Given the description of an element on the screen output the (x, y) to click on. 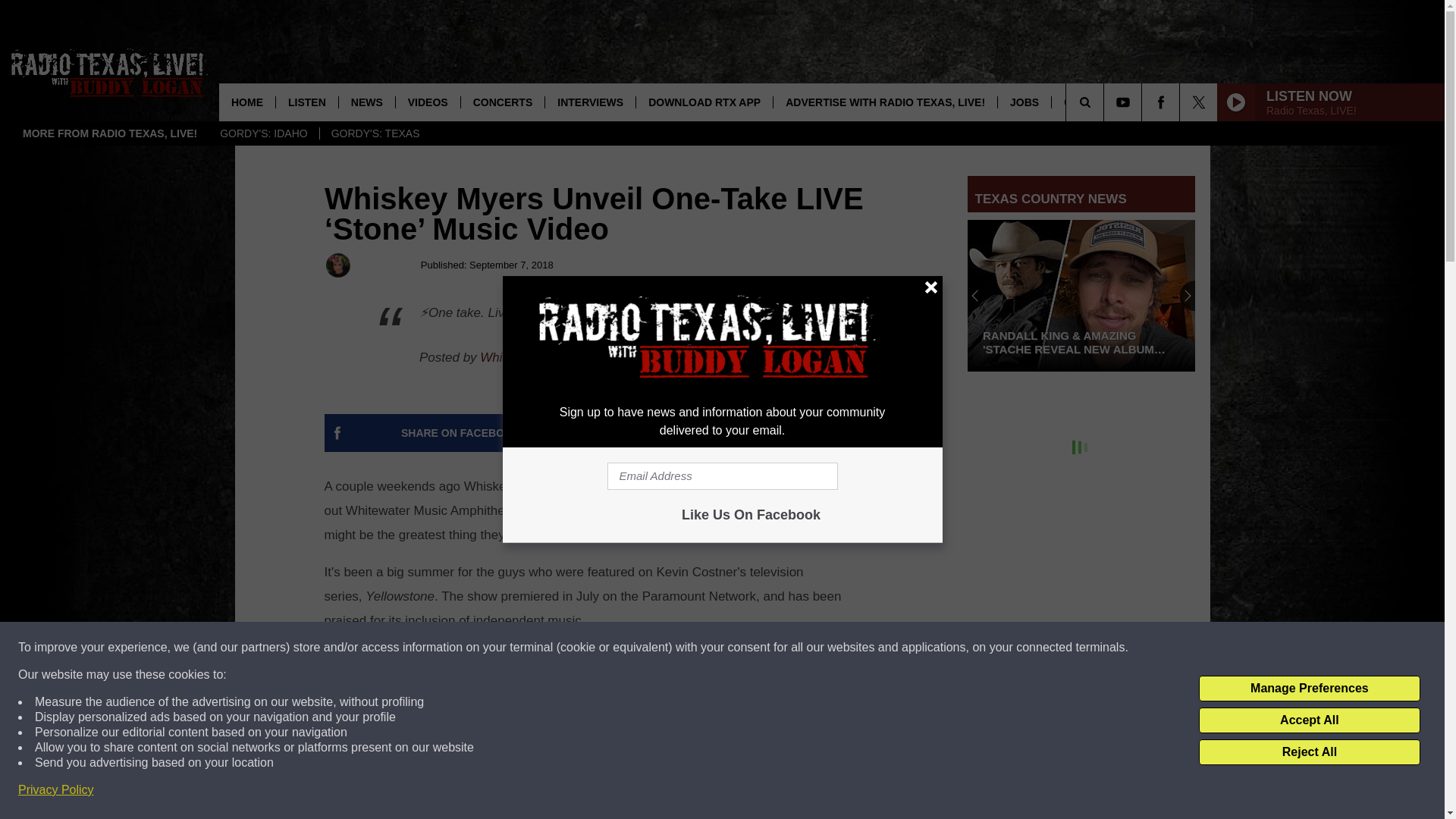
CONCERTS (502, 102)
Share on Facebook (460, 433)
INTERVIEWS (589, 102)
Reject All (1309, 751)
ADVERTISE WITH RADIO TEXAS, LIVE! (885, 102)
Email Address (722, 475)
CONTACT (1088, 102)
HOME (247, 102)
SEARCH (1106, 102)
Privacy Policy (55, 789)
NEWS (365, 102)
LISTEN (306, 102)
JOBS (1024, 102)
Accept All (1309, 720)
Share on Twitter (741, 433)
